Given the description of an element on the screen output the (x, y) to click on. 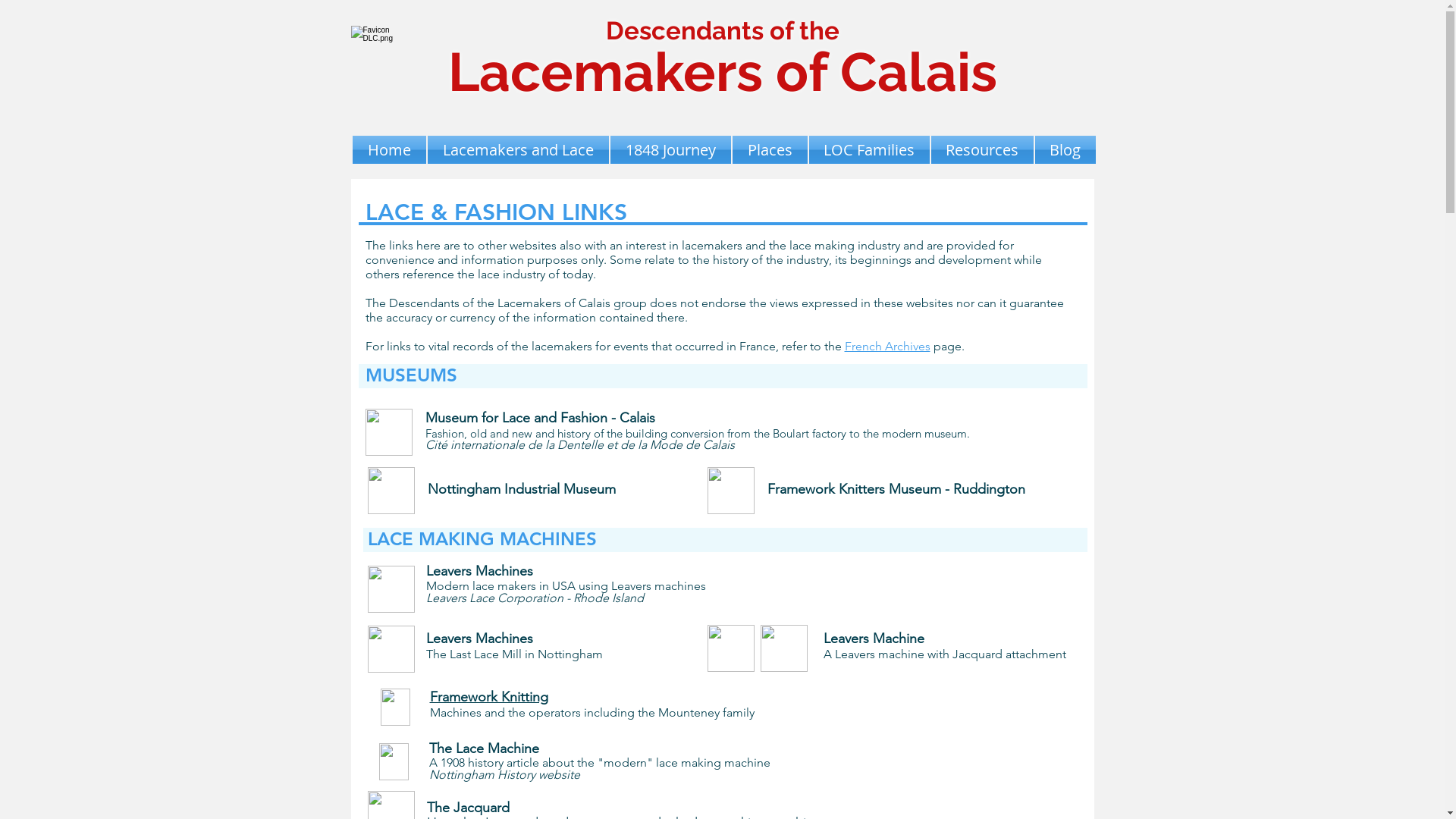
Page.jpeg Element type: hover (393, 761)
Descendants of the Element type: text (721, 30)
French Archives Element type: text (887, 345)
Home Element type: text (388, 149)
Page.jpeg Element type: hover (395, 706)
Framework Knitting Element type: text (488, 696)
Lacemakers of Calais Element type: text (721, 71)
Blog Element type: text (1064, 149)
